Given the description of an element on the screen output the (x, y) to click on. 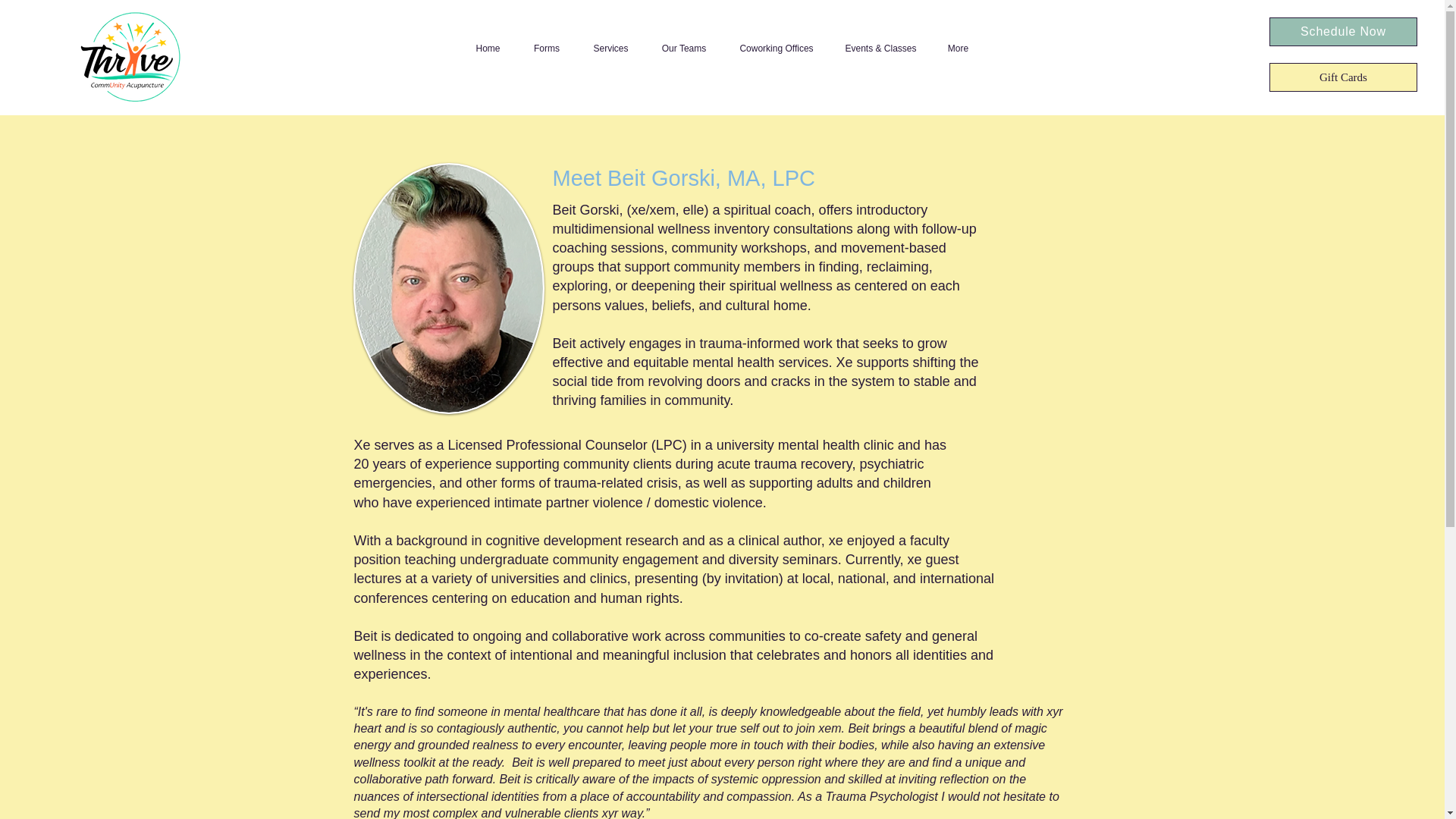
Forms (546, 48)
Schedule Now (1342, 31)
Our Teams (683, 48)
Home (488, 48)
Gift Cards (1342, 77)
Coworking Offices (776, 48)
